Given the description of an element on the screen output the (x, y) to click on. 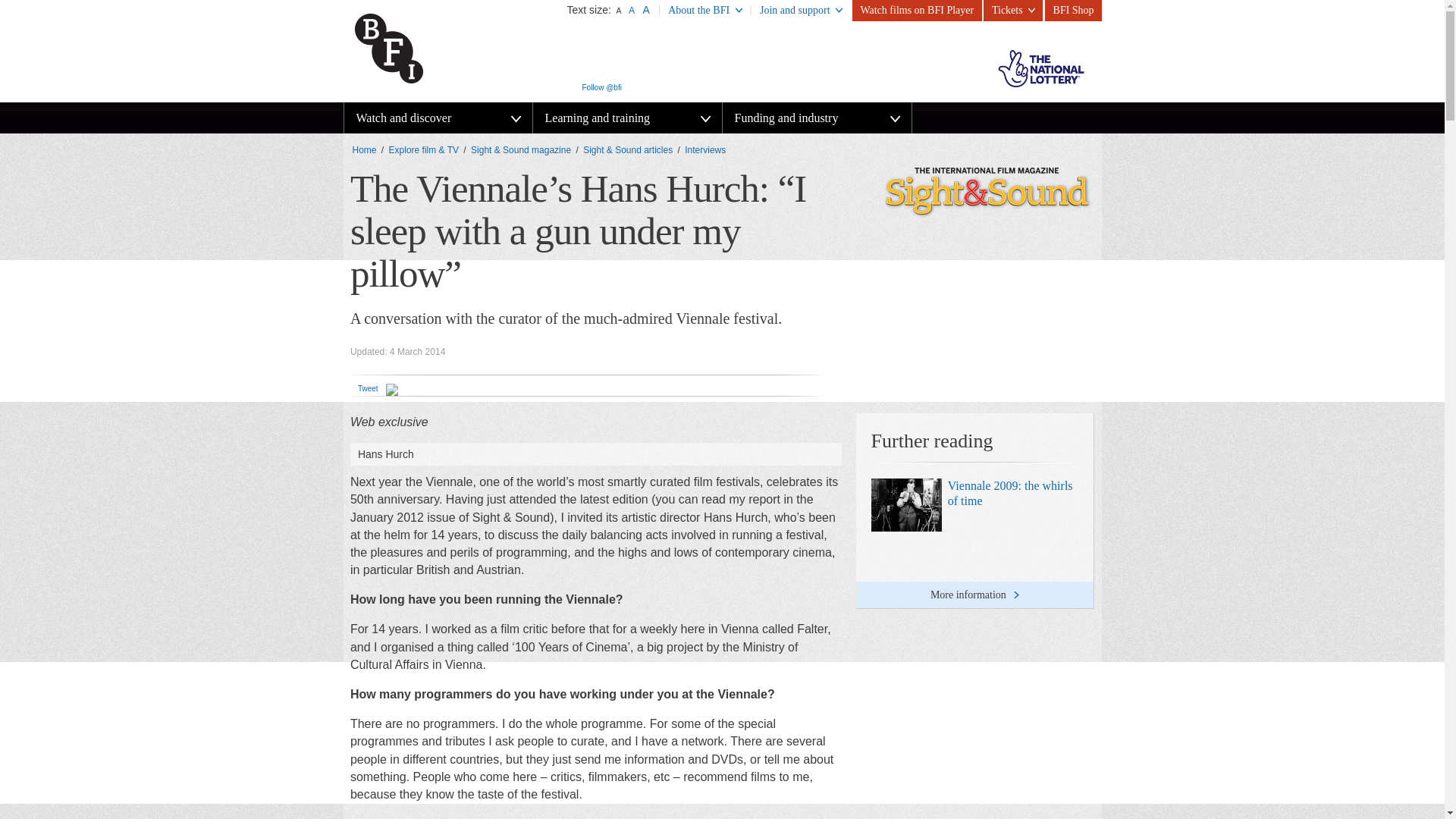
Skip to main content (34, 0)
Watch and discover (437, 117)
A (646, 9)
Viennale 2009: the whirls of time - image (906, 504)
BFI Film Forever logo - link to homepage (421, 46)
Learning and training (626, 117)
About the BFI (705, 10)
A (631, 9)
Watch films on BFI Player (916, 10)
Tickets (1013, 10)
